Given the description of an element on the screen output the (x, y) to click on. 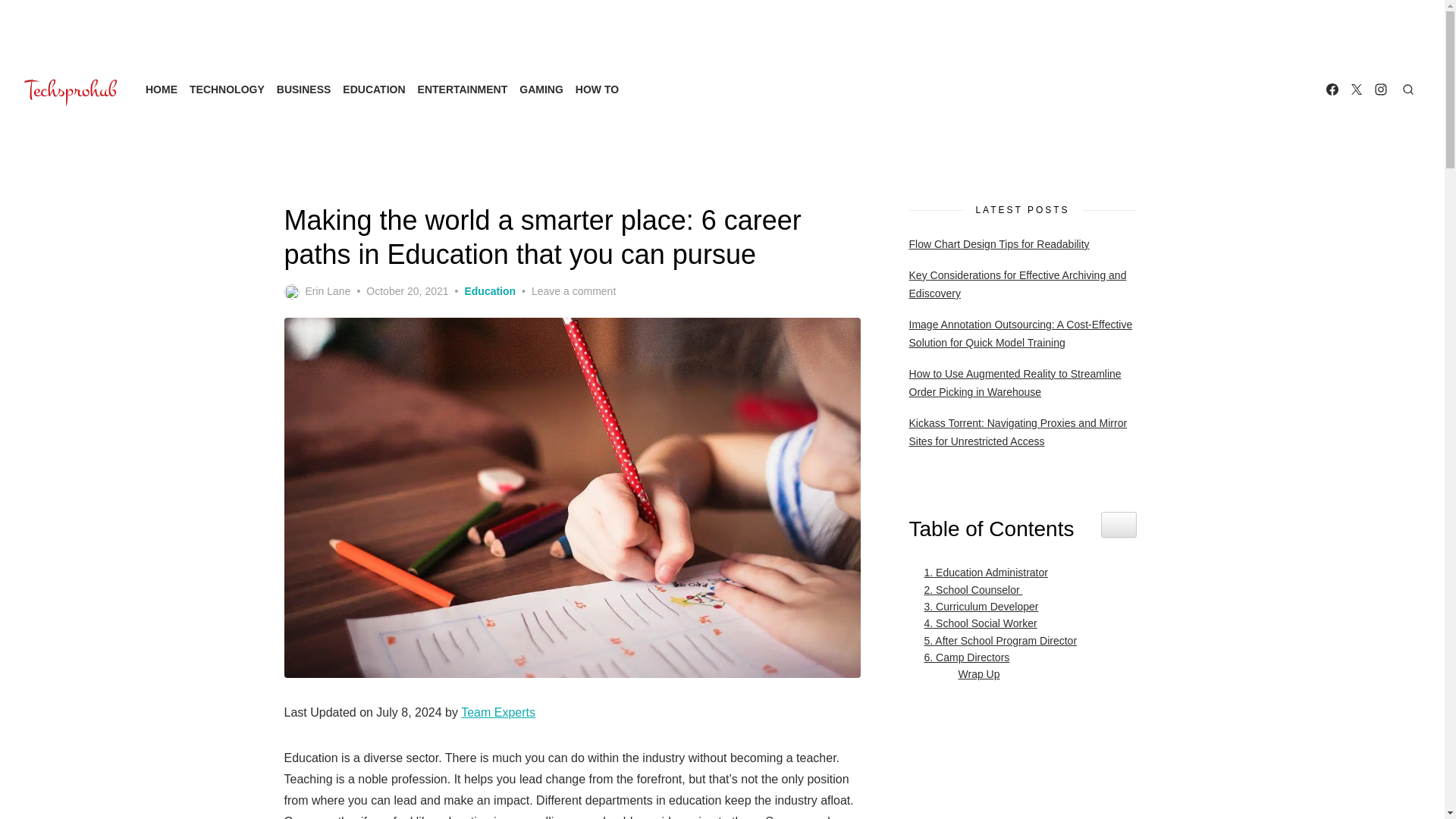
GAMING (541, 88)
4. School Social Worker (976, 623)
5. After School Program Director (997, 640)
Leave a comment (573, 291)
EDUCATION (373, 88)
BUSINESS (303, 88)
October 20, 2021 (407, 291)
HOW TO (596, 88)
Education (489, 291)
HOME (161, 88)
